Given the description of an element on the screen output the (x, y) to click on. 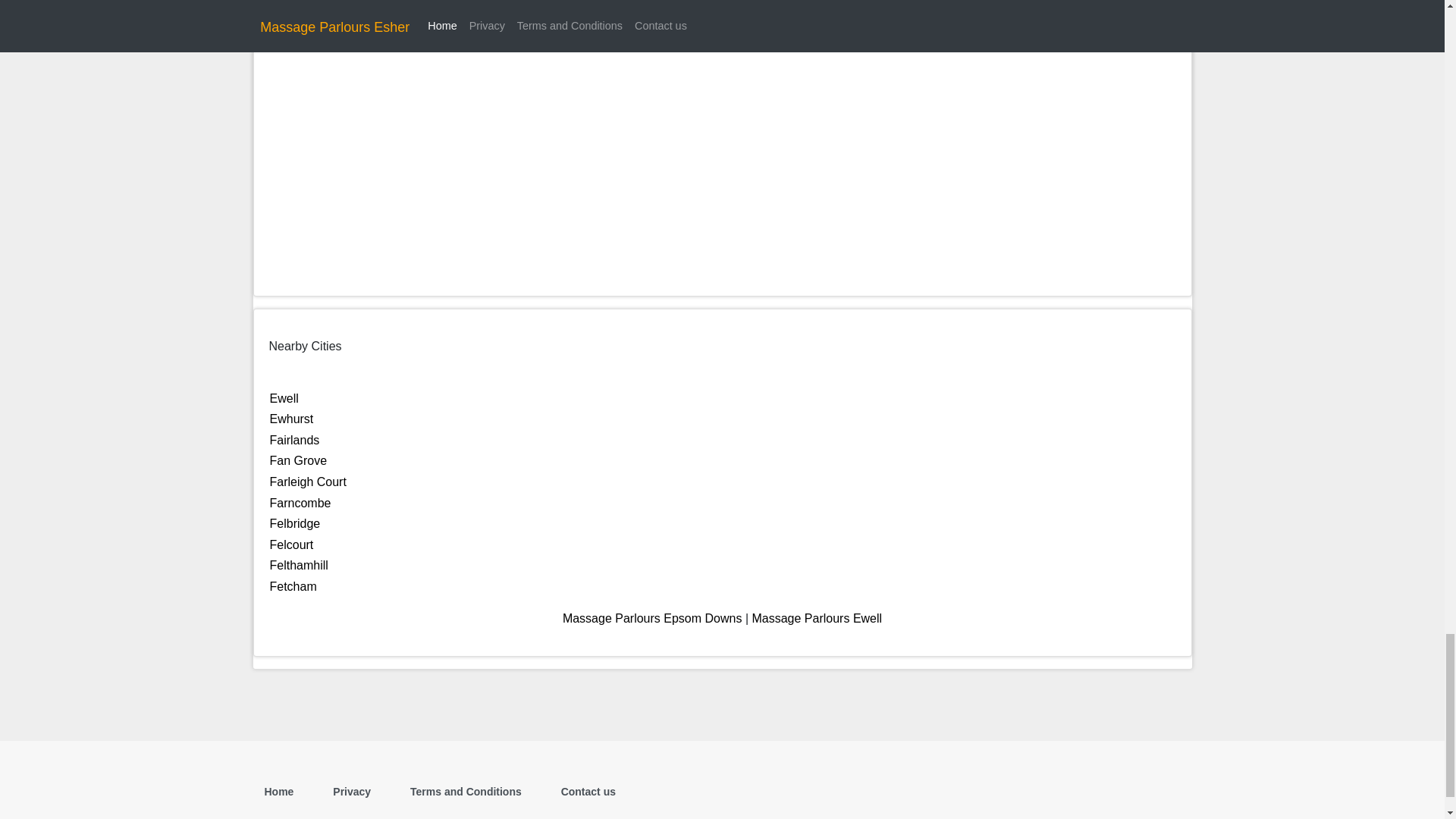
Felcourt (291, 544)
Felthamhill (299, 564)
Massage Parlours Ewell (816, 617)
Ewhurst (291, 418)
Ewell (283, 398)
Fetcham (293, 585)
Fairlands (294, 440)
Massage Parlours Epsom Downs (652, 617)
Farncombe (300, 502)
Fan Grove (298, 460)
Farleigh Court (307, 481)
Felbridge (294, 522)
